Given the description of an element on the screen output the (x, y) to click on. 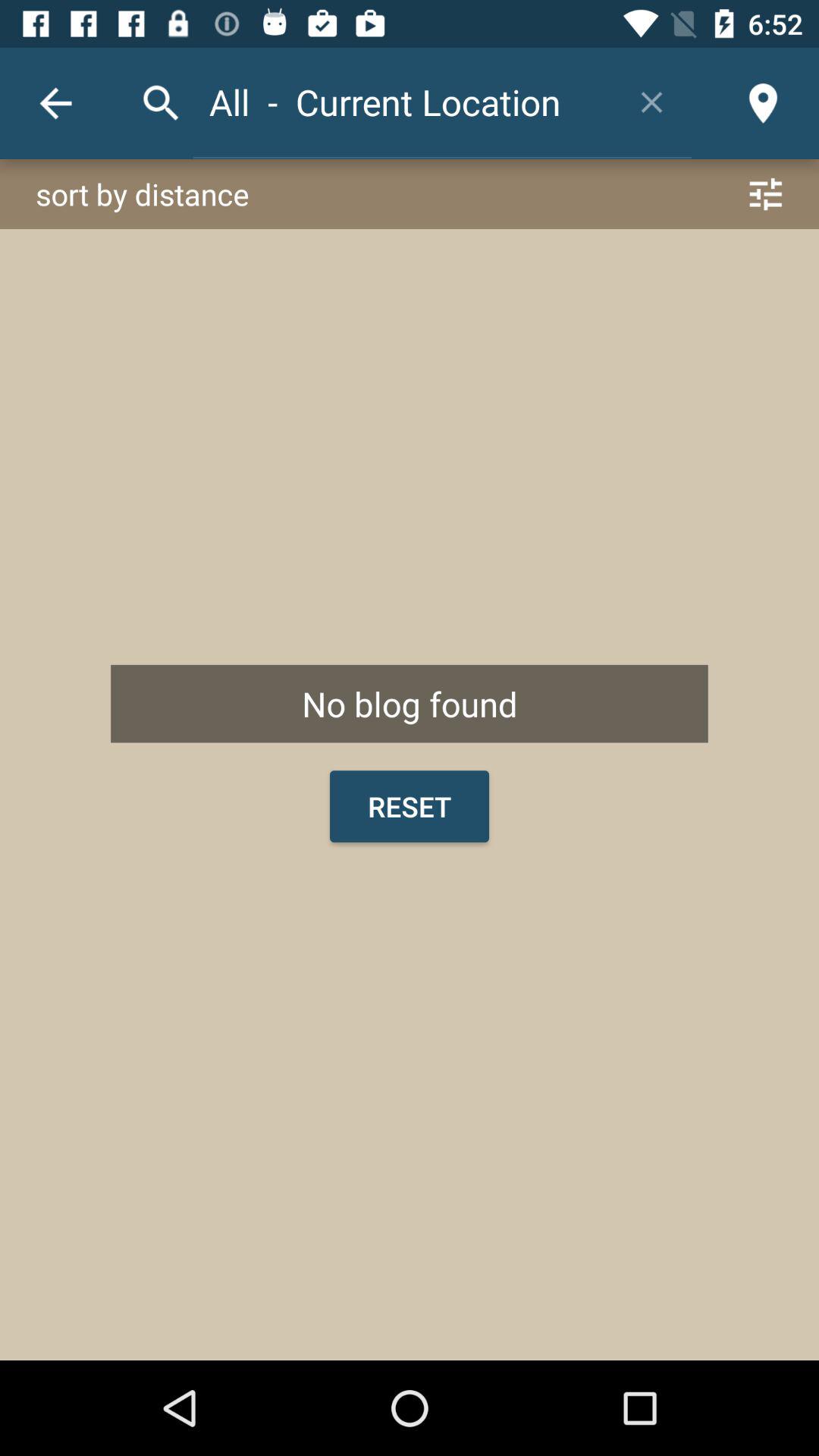
open the item below no blog found icon (409, 806)
